Given the description of an element on the screen output the (x, y) to click on. 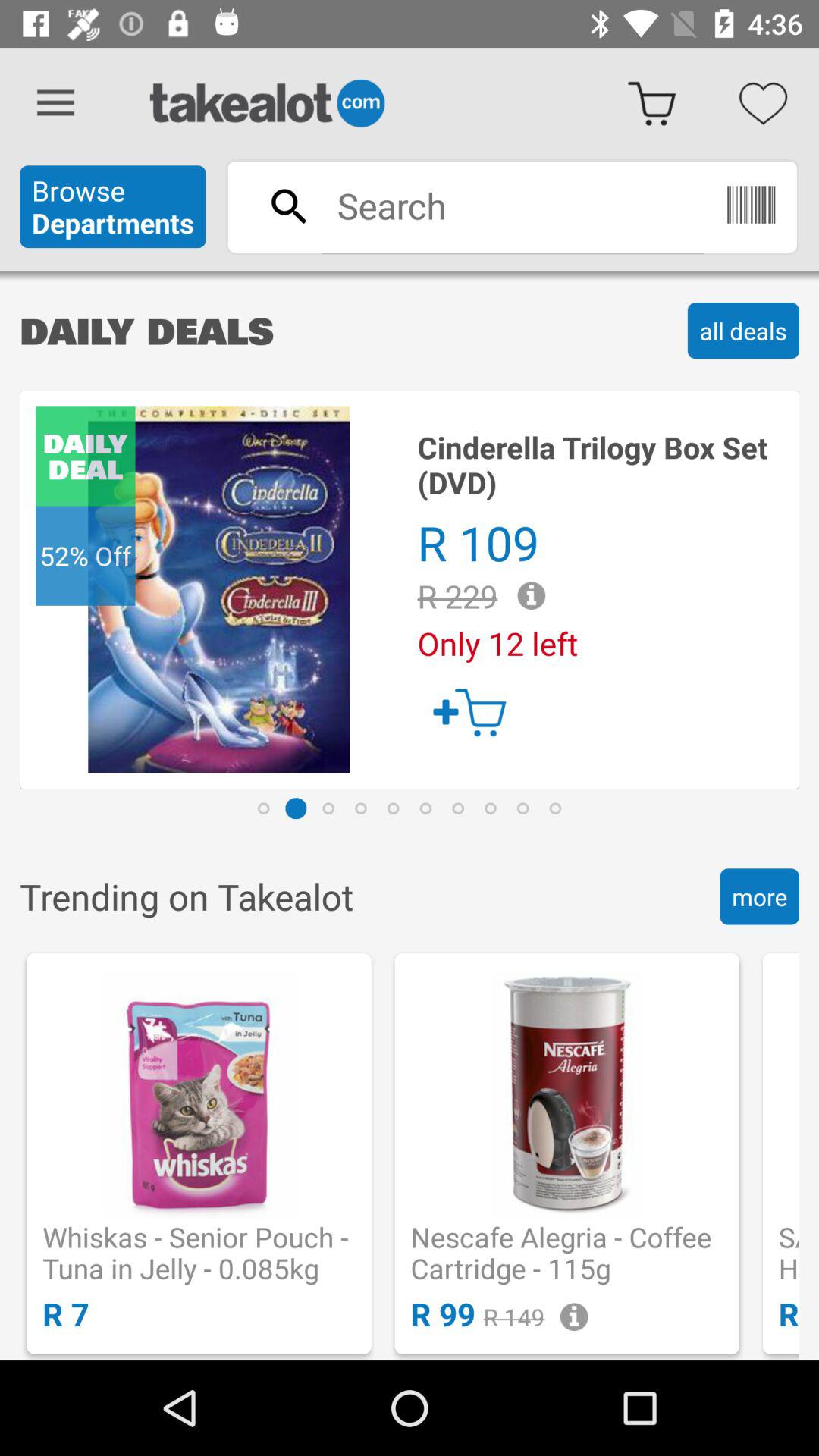
type in search terms (512, 205)
